Given the description of an element on the screen output the (x, y) to click on. 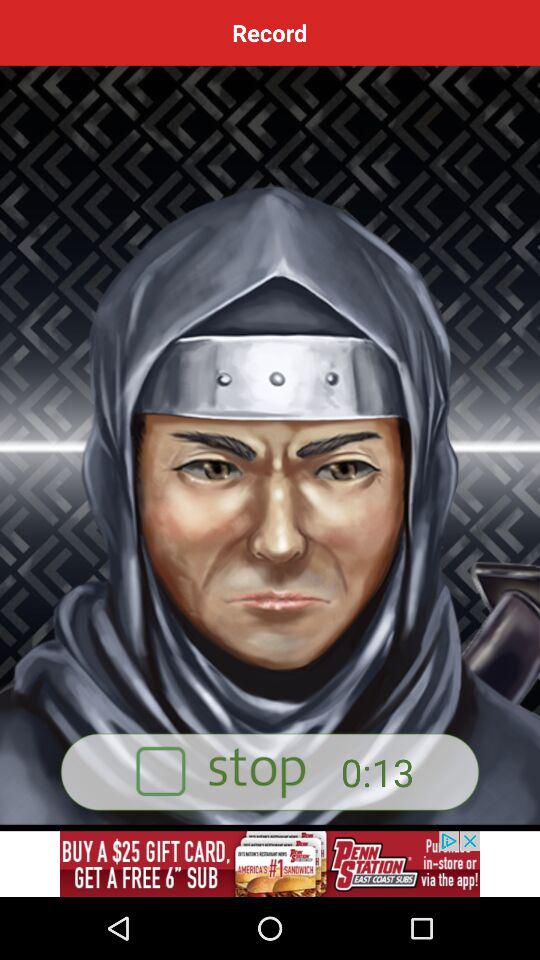
stop button (270, 771)
